Given the description of an element on the screen output the (x, y) to click on. 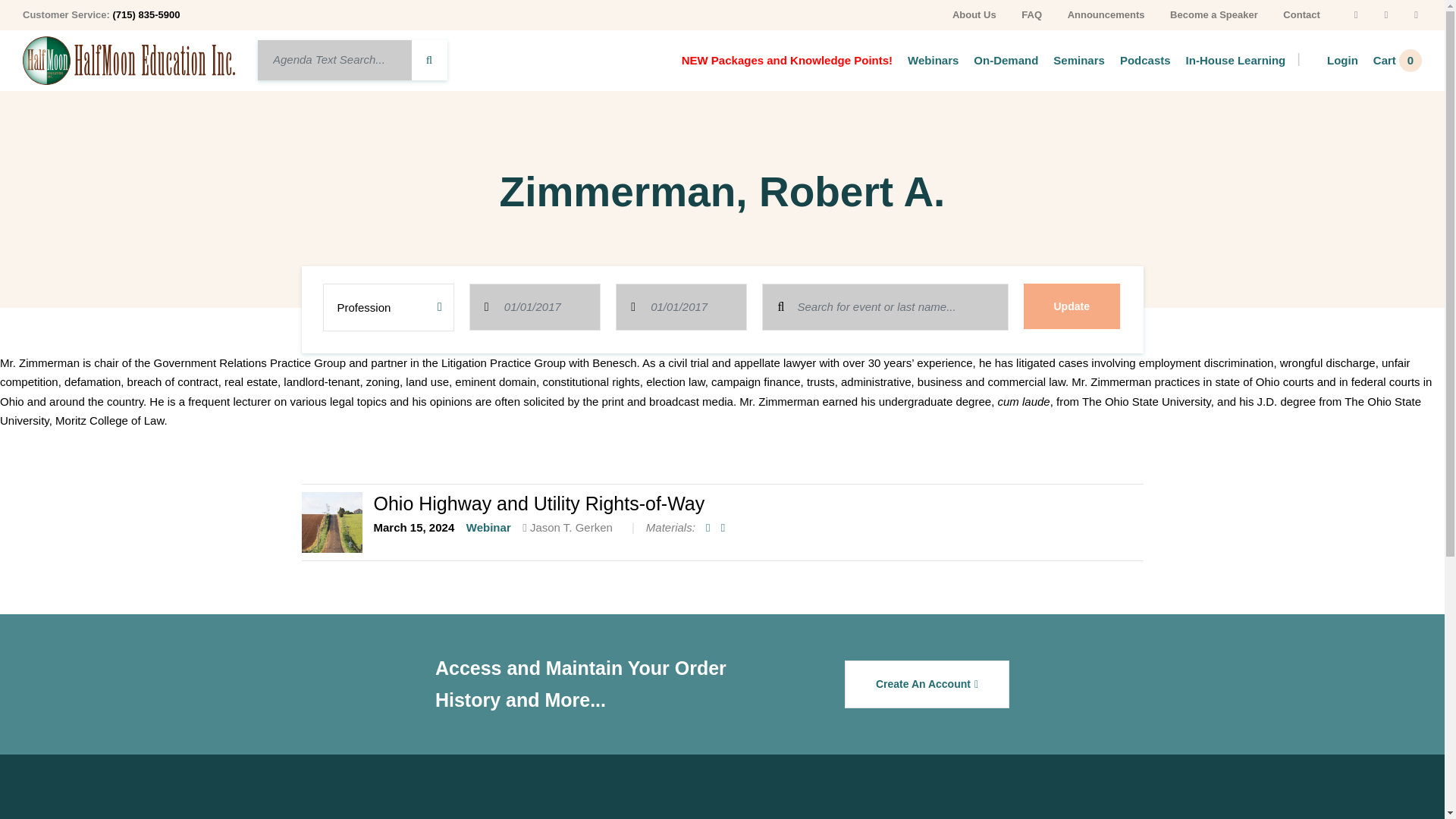
Start Program Date (533, 307)
Profession (387, 307)
Announcements (1106, 14)
About Us (973, 14)
Contact (1300, 14)
FAQ (1031, 14)
Search (884, 307)
Cart 0 (1390, 59)
End Program Date (680, 307)
In-House Learning (1227, 59)
